Given the description of an element on the screen output the (x, y) to click on. 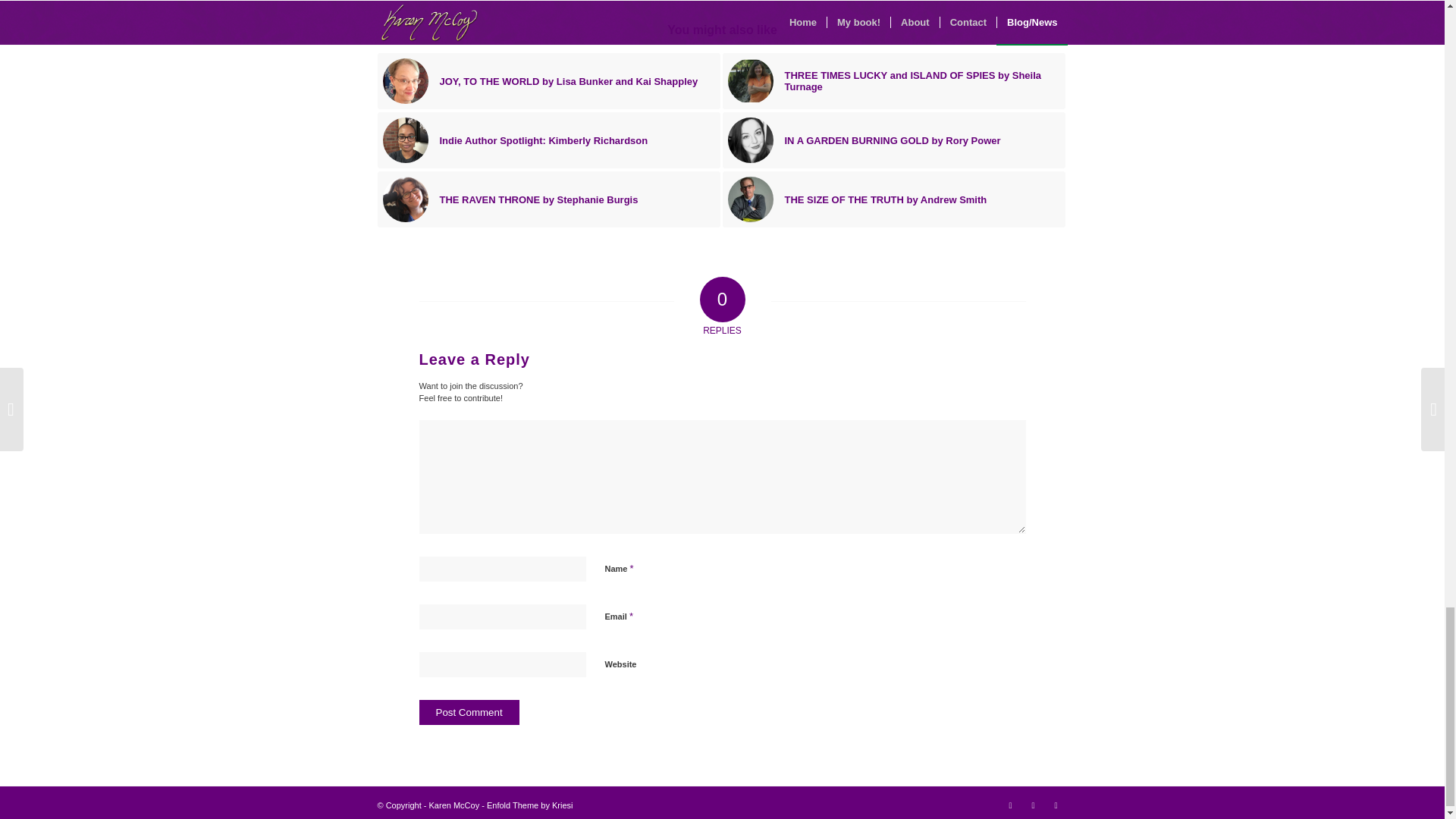
JOY, TO THE WORLD by Lisa Bunker and Kai Shappley (548, 80)
THE SIZE OF THE TRUTH by Andrew Smith (893, 199)
Indie Author Spotlight: Kimberly Richardson (548, 140)
Lisa Bunker (404, 81)
THE RAVEN THRONE by Stephanie Burgis (548, 199)
IN A GARDEN BURNING GOLD by Rory Power (893, 140)
JOY, TO THE WORLD by Lisa Bunker and Kai Shappley (548, 80)
THREE TIMES LUCKY and ISLAND OF SPIES by Sheila Turnage (893, 80)
THREE TIMES LUCKY and ISLAND OF SPIES by Sheila Turnage (893, 80)
Post Comment (468, 712)
